Given the description of an element on the screen output the (x, y) to click on. 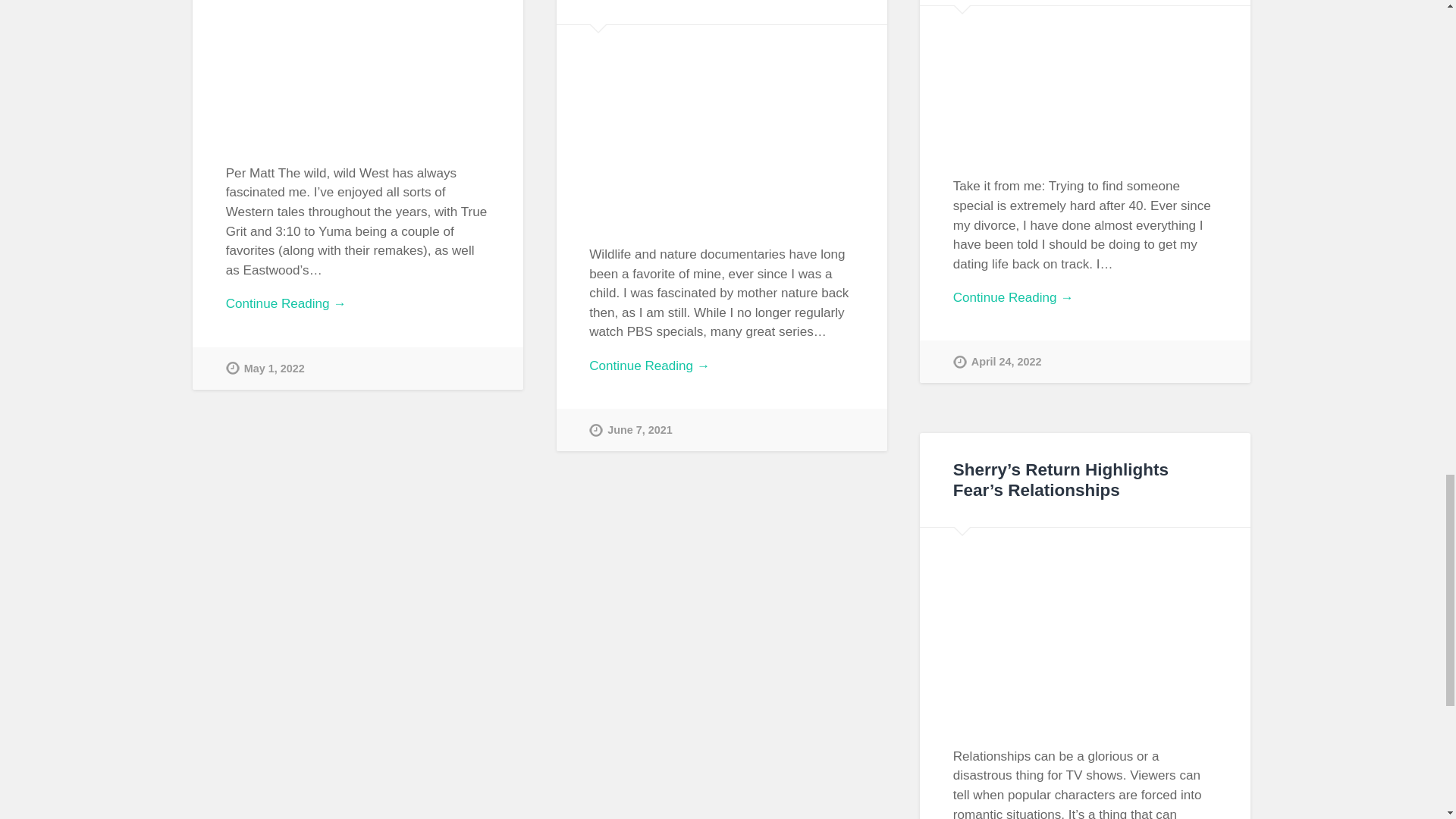
June 7, 2021 (630, 429)
May 1, 2022 (264, 368)
April 24, 2022 (997, 361)
